Given the description of an element on the screen output the (x, y) to click on. 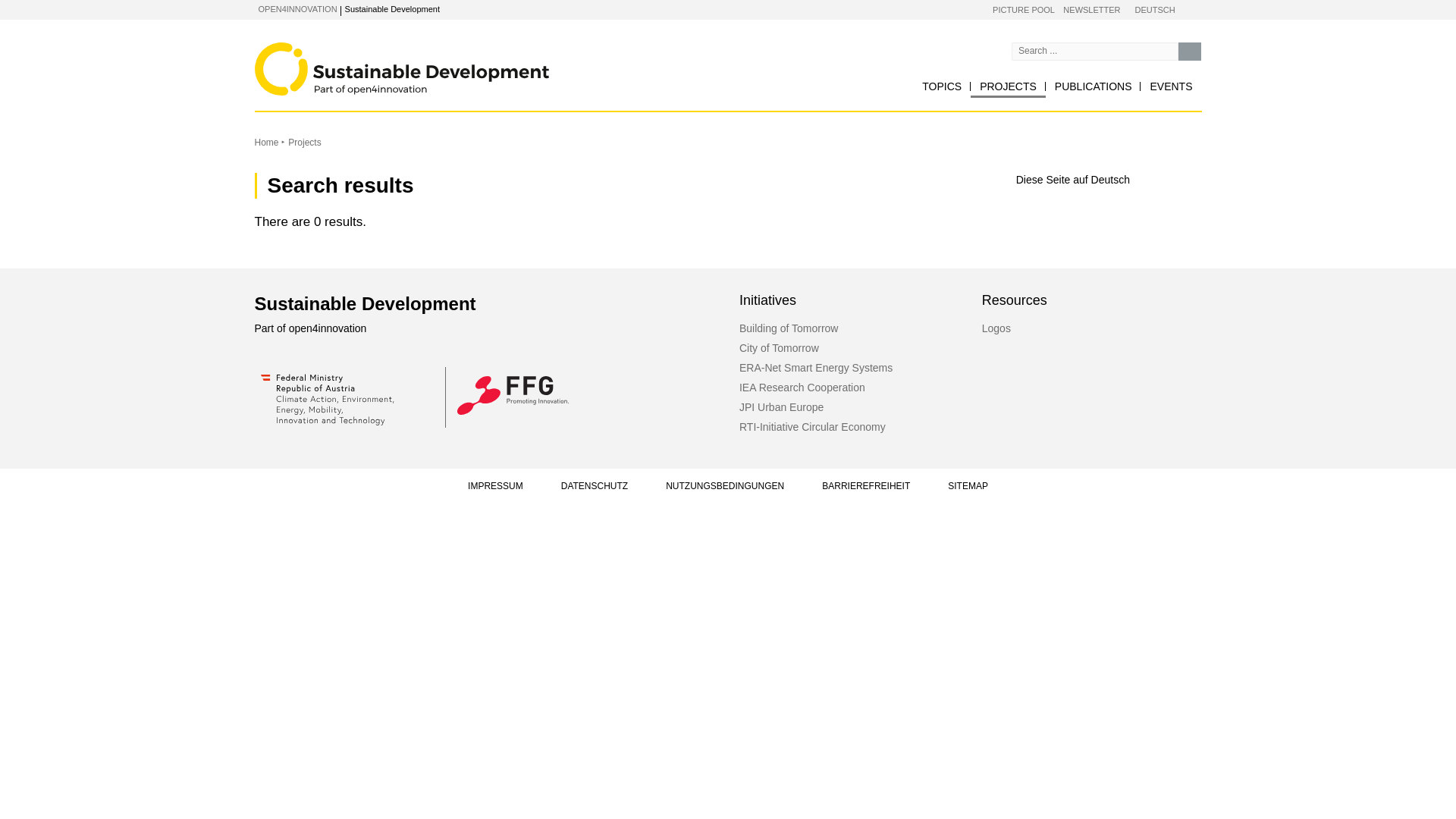
OPEN4INNOVATION (296, 9)
PICTURE POOL (1023, 10)
PUBLICATIONS (1093, 86)
TOPICS (941, 86)
DEUTSCH (1154, 10)
Show (367, 10)
NEWSLETTER (1090, 10)
Search ... (1189, 51)
PROJECTS (1008, 86)
